Given the description of an element on the screen output the (x, y) to click on. 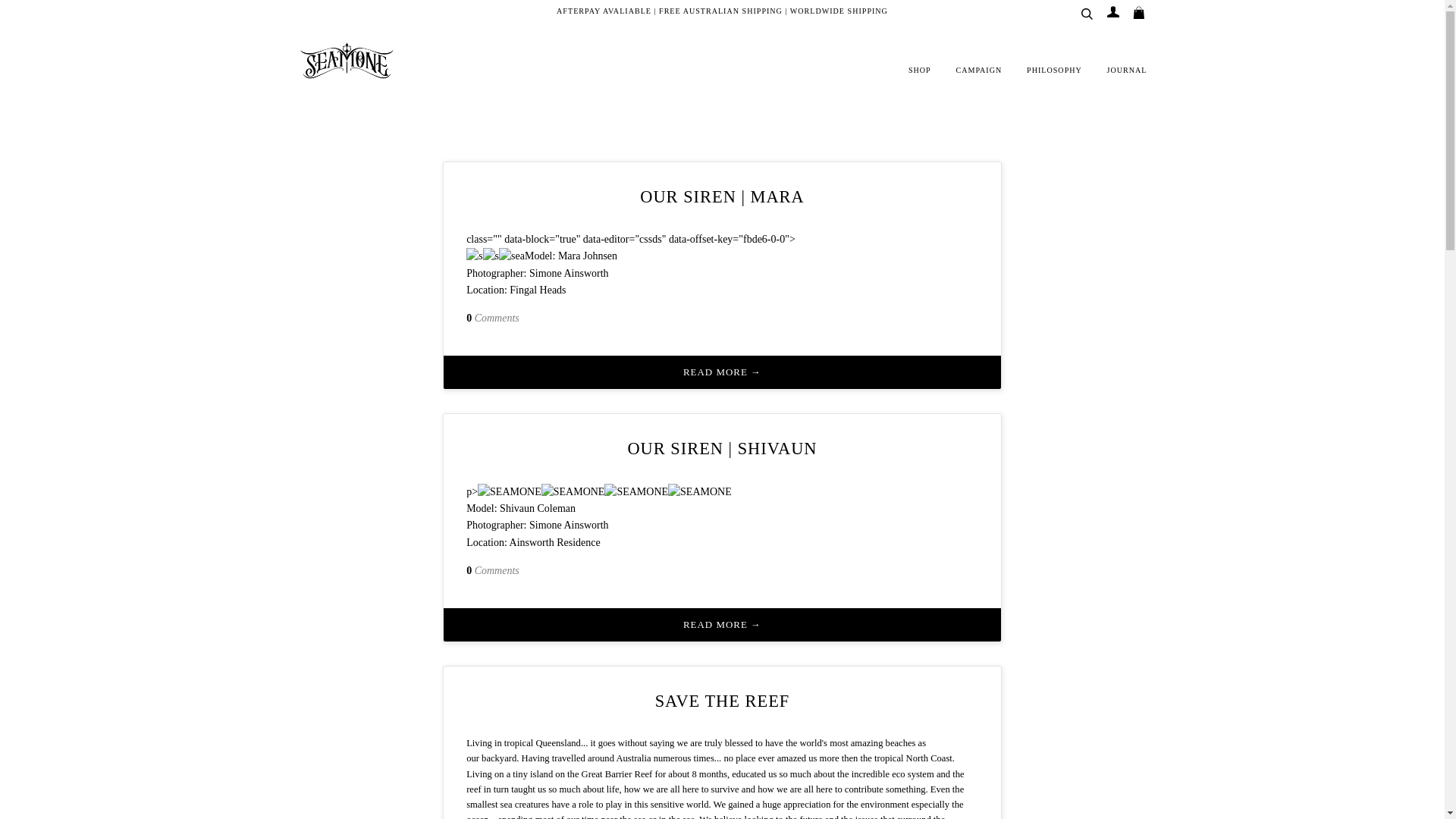
0 Comments (492, 317)
0 Comments (492, 570)
SAVE THE REEF (722, 700)
